Given the description of an element on the screen output the (x, y) to click on. 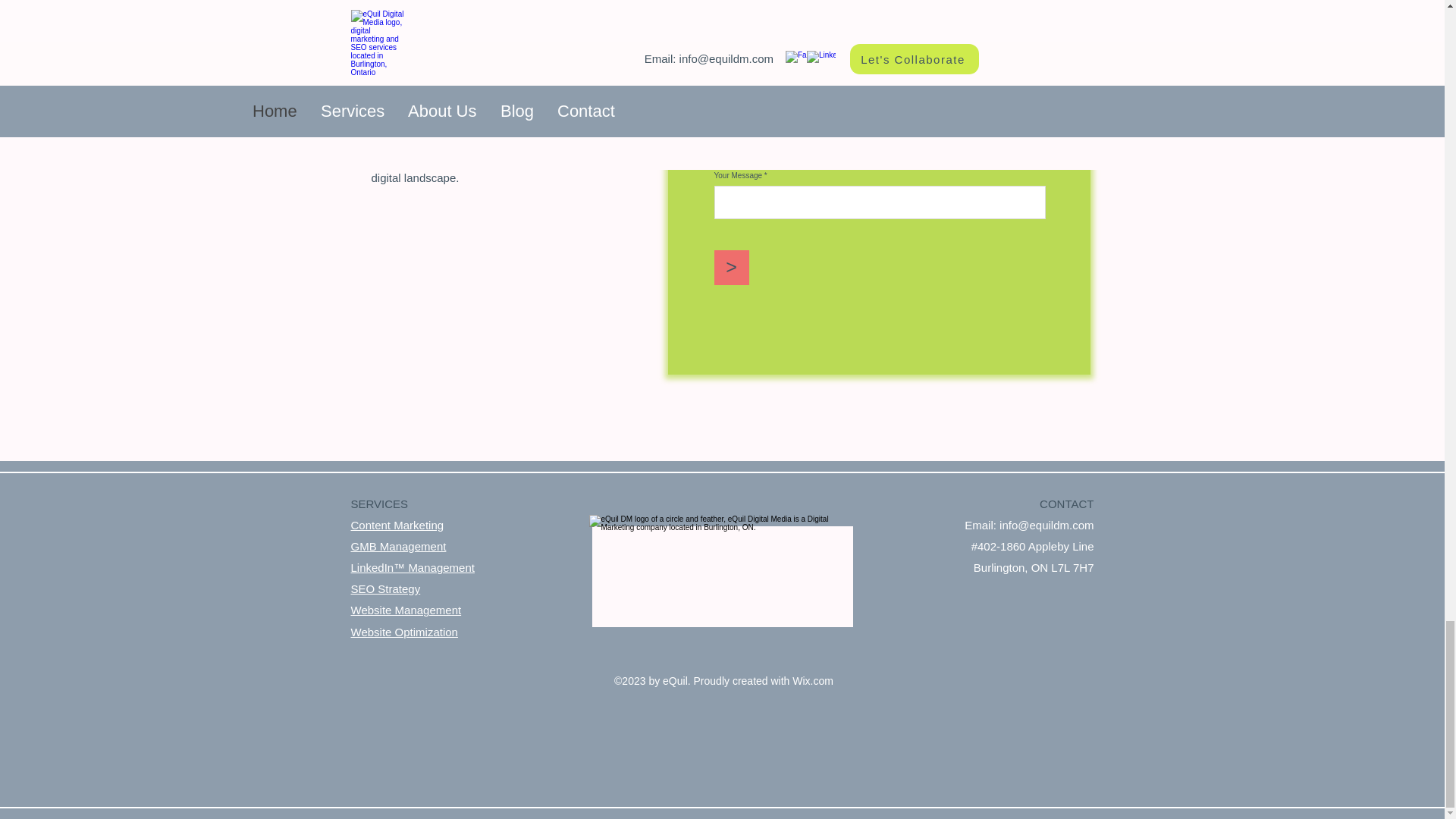
GMB Management (397, 545)
SEO Strategy (385, 588)
Website Management (405, 609)
Website Optimization (403, 631)
Content Marketing (397, 524)
